Given the description of an element on the screen output the (x, y) to click on. 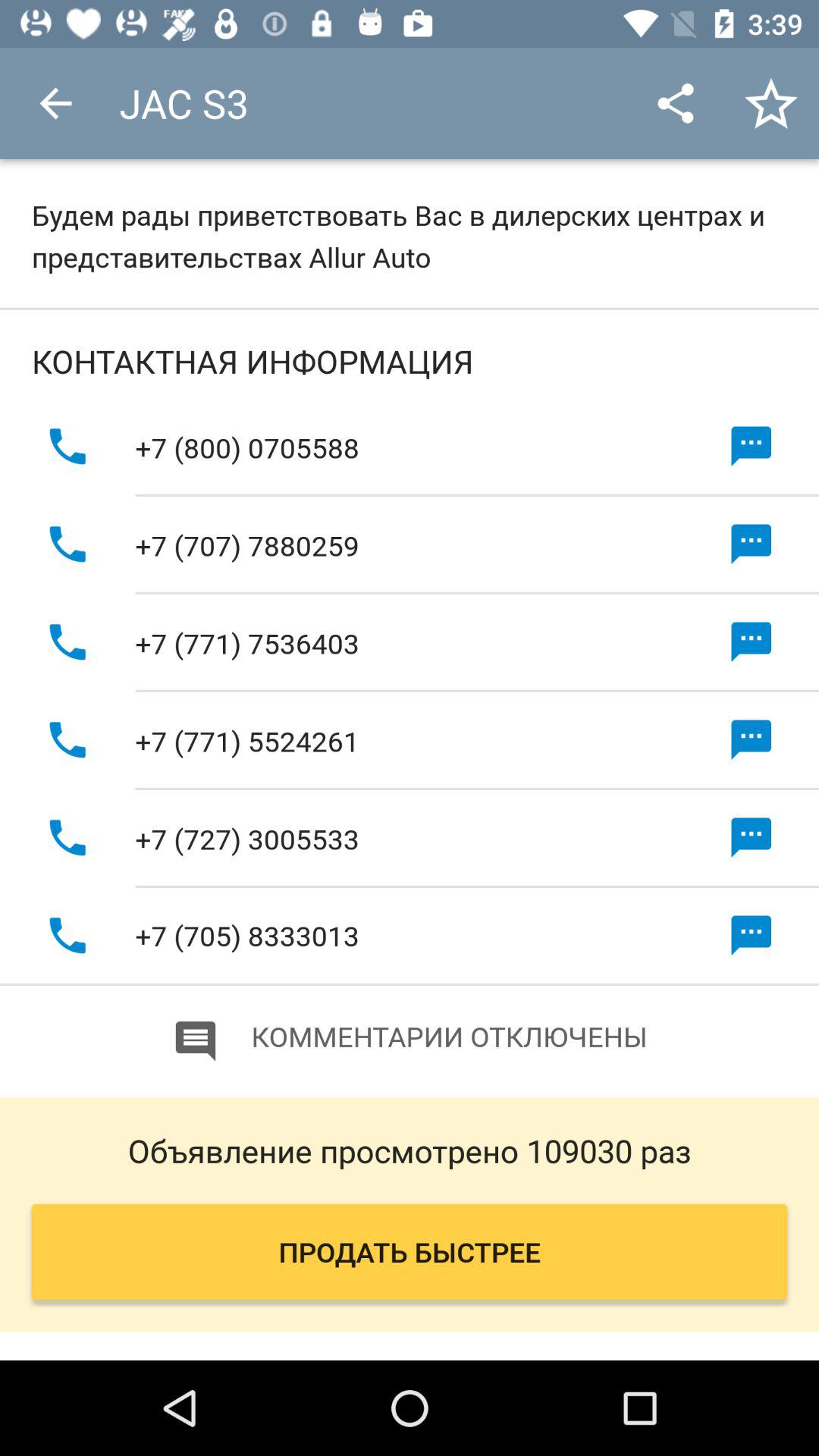
click the item next to the jac s3 app (55, 103)
